Given the description of an element on the screen output the (x, y) to click on. 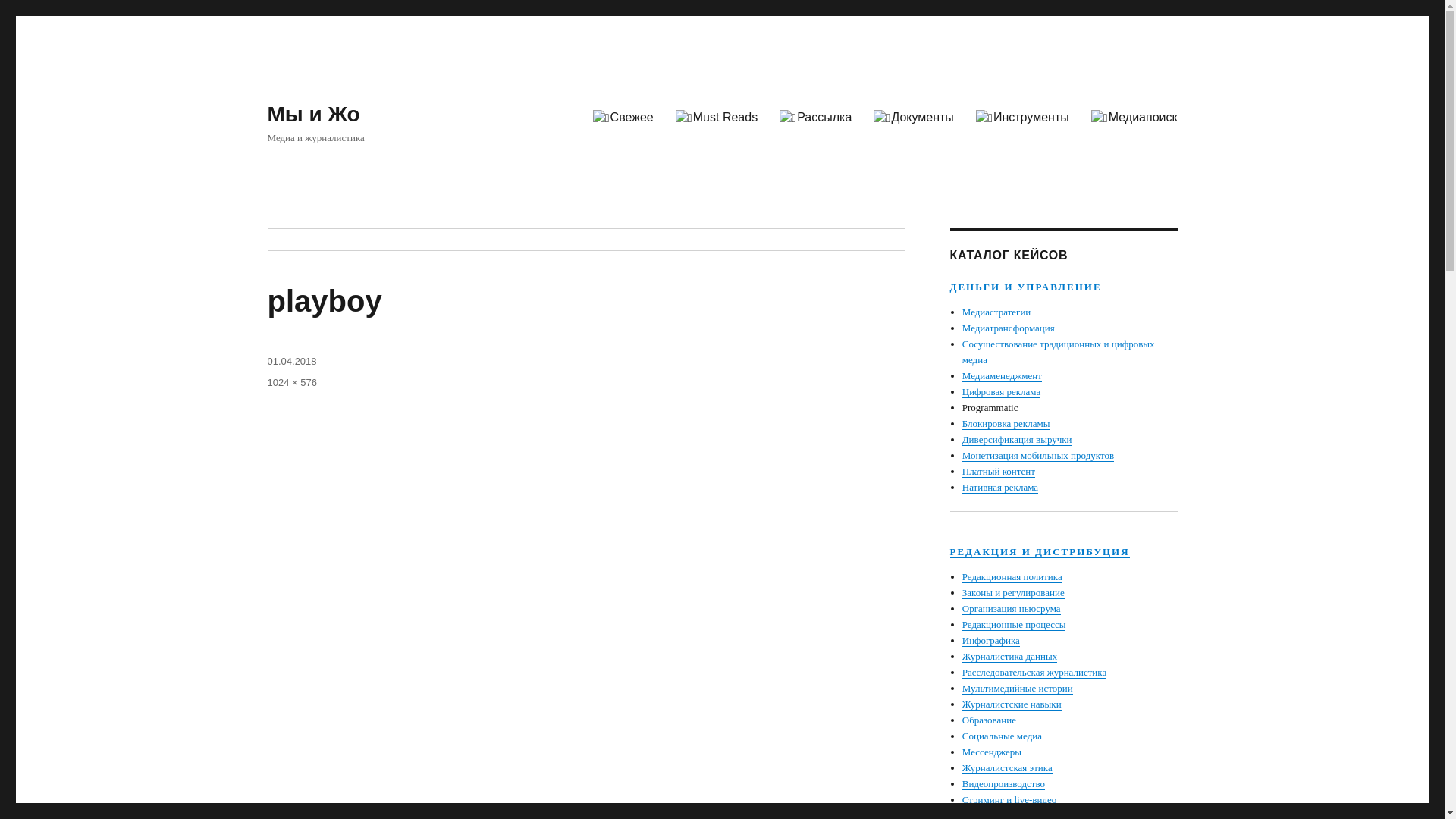
Must Reads Element type: text (716, 117)
01.04.2018 Element type: text (291, 361)
